Given the description of an element on the screen output the (x, y) to click on. 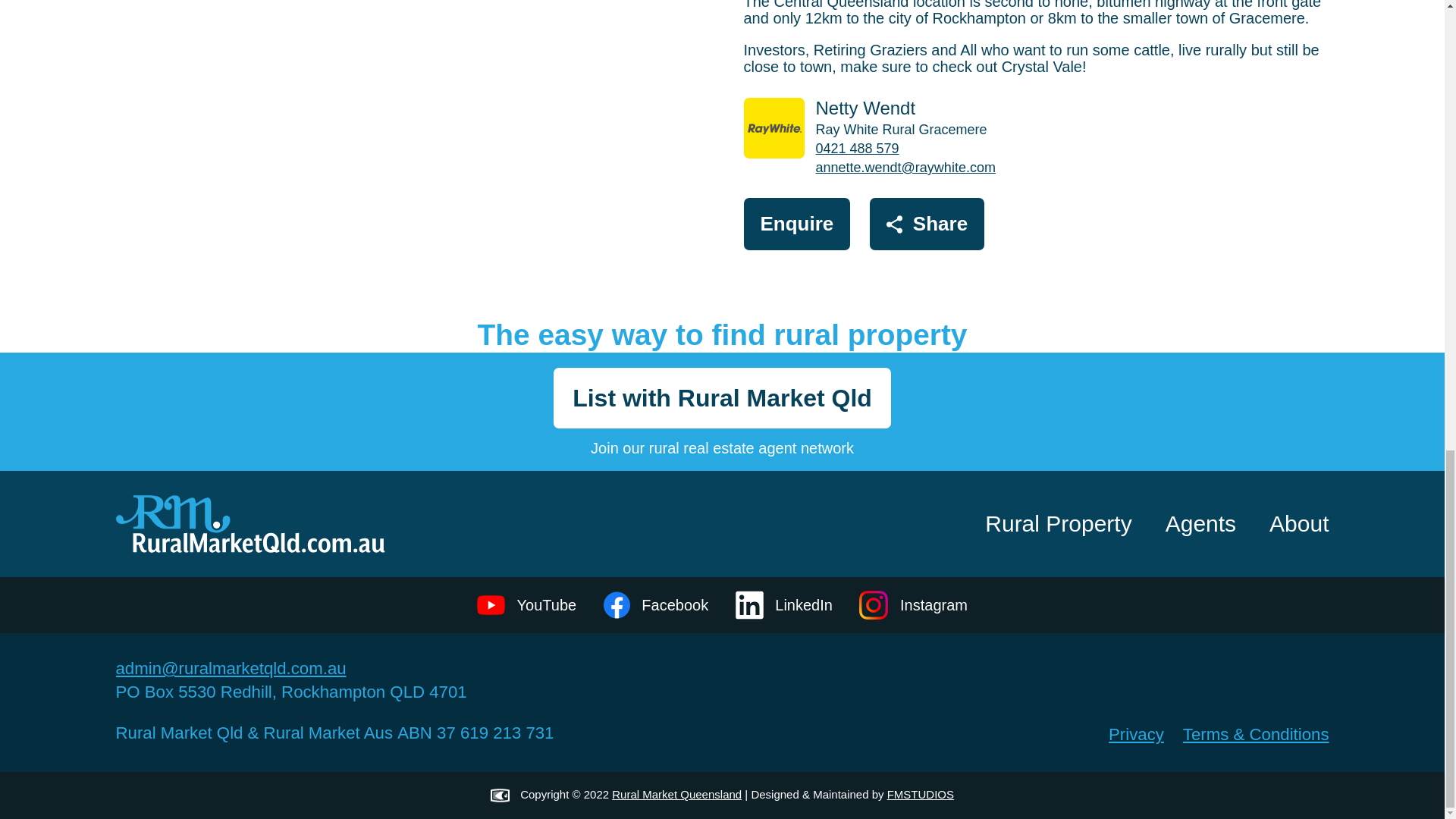
About (1298, 523)
Privacy (1135, 733)
Agents (1200, 523)
0421 488 579 (857, 148)
Facebook (655, 604)
Instagram (913, 604)
YouTube (526, 604)
Rural Property (1058, 523)
LinkedIn (783, 604)
List with Rural Market Qld (722, 397)
Rural Market Queensland (676, 793)
FMSTUDIOS (919, 793)
Share (926, 224)
Enquire (796, 224)
